Given the description of an element on the screen output the (x, y) to click on. 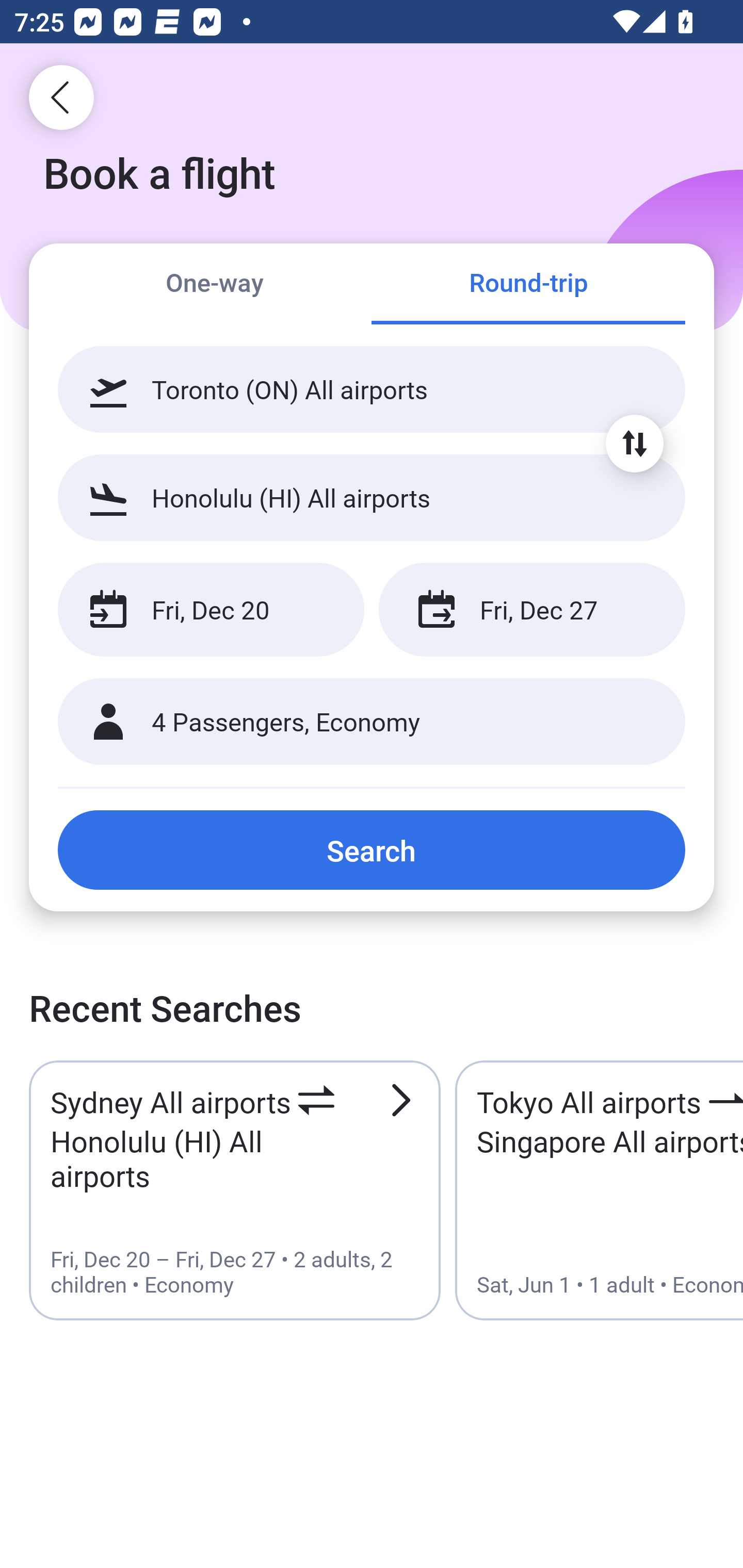
One-way (214, 284)
Toronto (ON) All airports (371, 389)
Honolulu (HI) All airports (371, 497)
Fri, Dec 20 (210, 609)
Fri, Dec 27 (531, 609)
4 Passengers, Economy (371, 721)
Search (371, 849)
